Given the description of an element on the screen output the (x, y) to click on. 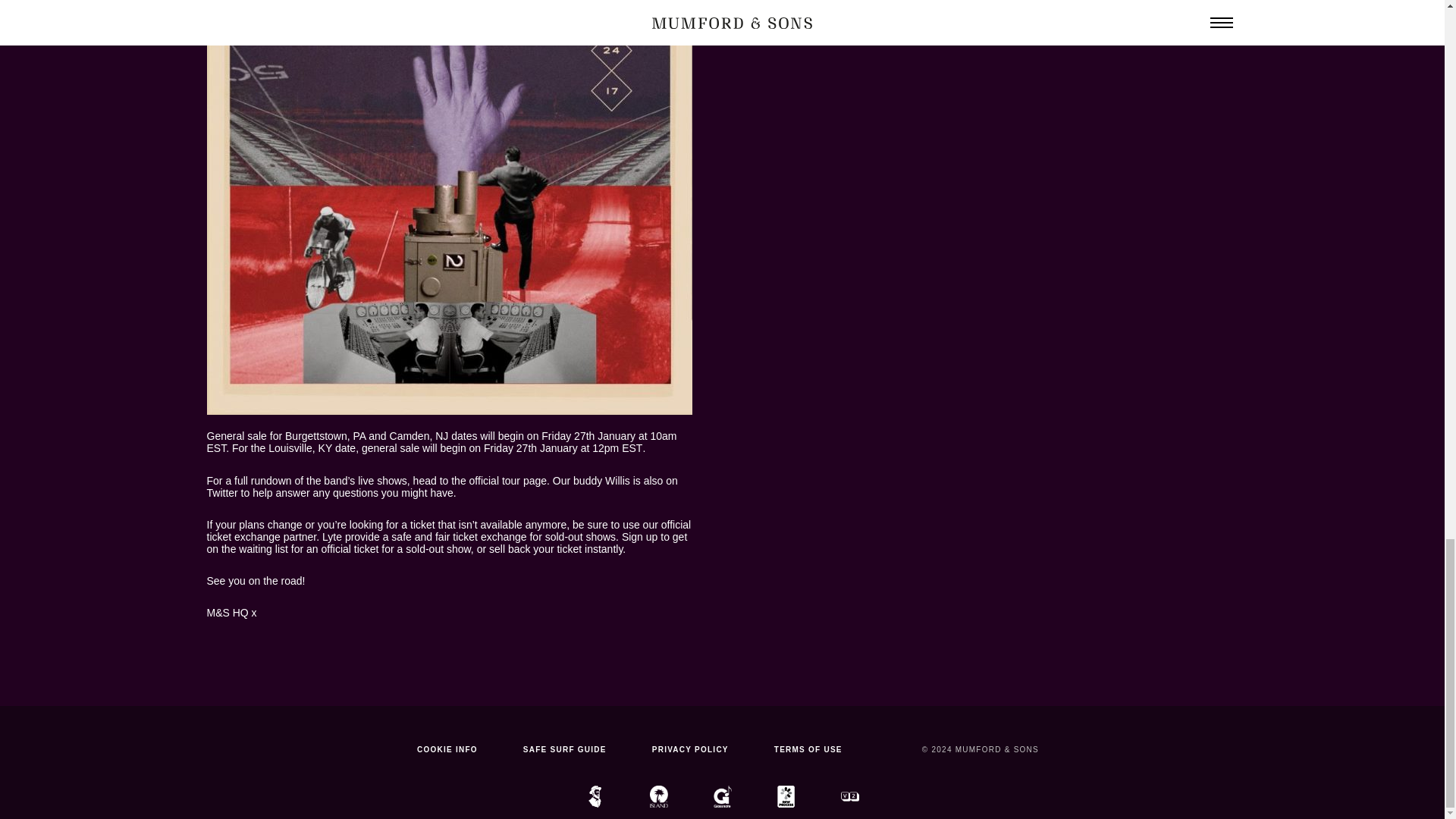
COOKIE INFO (446, 749)
Willis (617, 480)
PRIVACY POLICY (690, 749)
Sign up (639, 536)
tour page (524, 480)
SAFE SURF GUIDE (564, 749)
Lyte (331, 536)
